Given the description of an element on the screen output the (x, y) to click on. 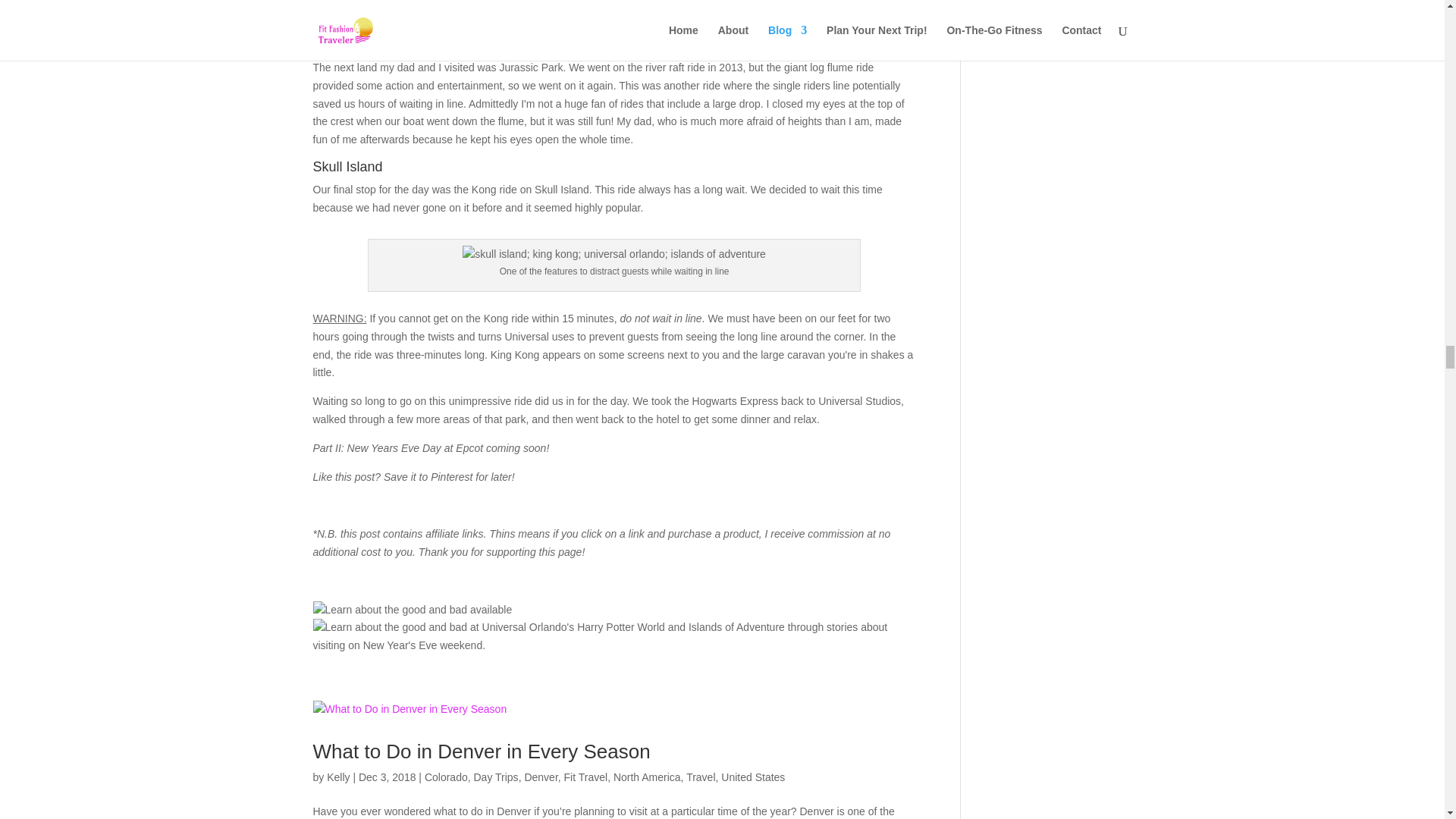
Posts by Kelly (337, 776)
Orlando NYE 2 (614, 637)
Harry Potter World for New Years Eve Weekend (412, 610)
